Given the description of an element on the screen output the (x, y) to click on. 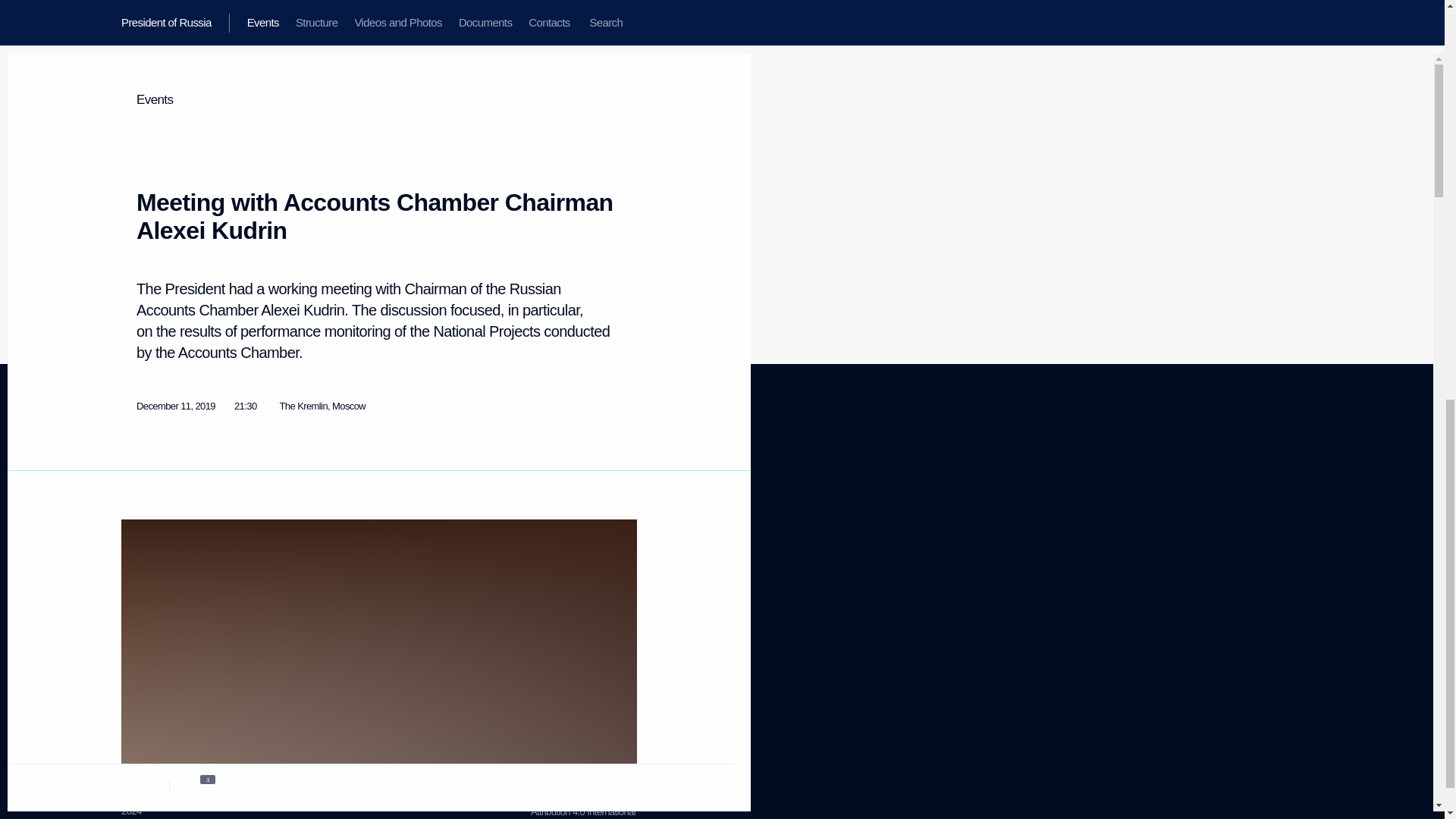
Contacts (138, 556)
About website (317, 487)
Personal data of website users (558, 480)
Documents (579, 525)
The Constitution of Russia (143, 537)
Contact website team (309, 512)
For the Media (573, 550)
Videos and Photos (148, 611)
YouTube Channel (158, 518)
Creative Commons Attribution 4.0 International (429, 514)
Telegram Channel (582, 805)
Directory (430, 496)
Send a Letter (138, 665)
State Insignia (284, 550)
